Given the description of an element on the screen output the (x, y) to click on. 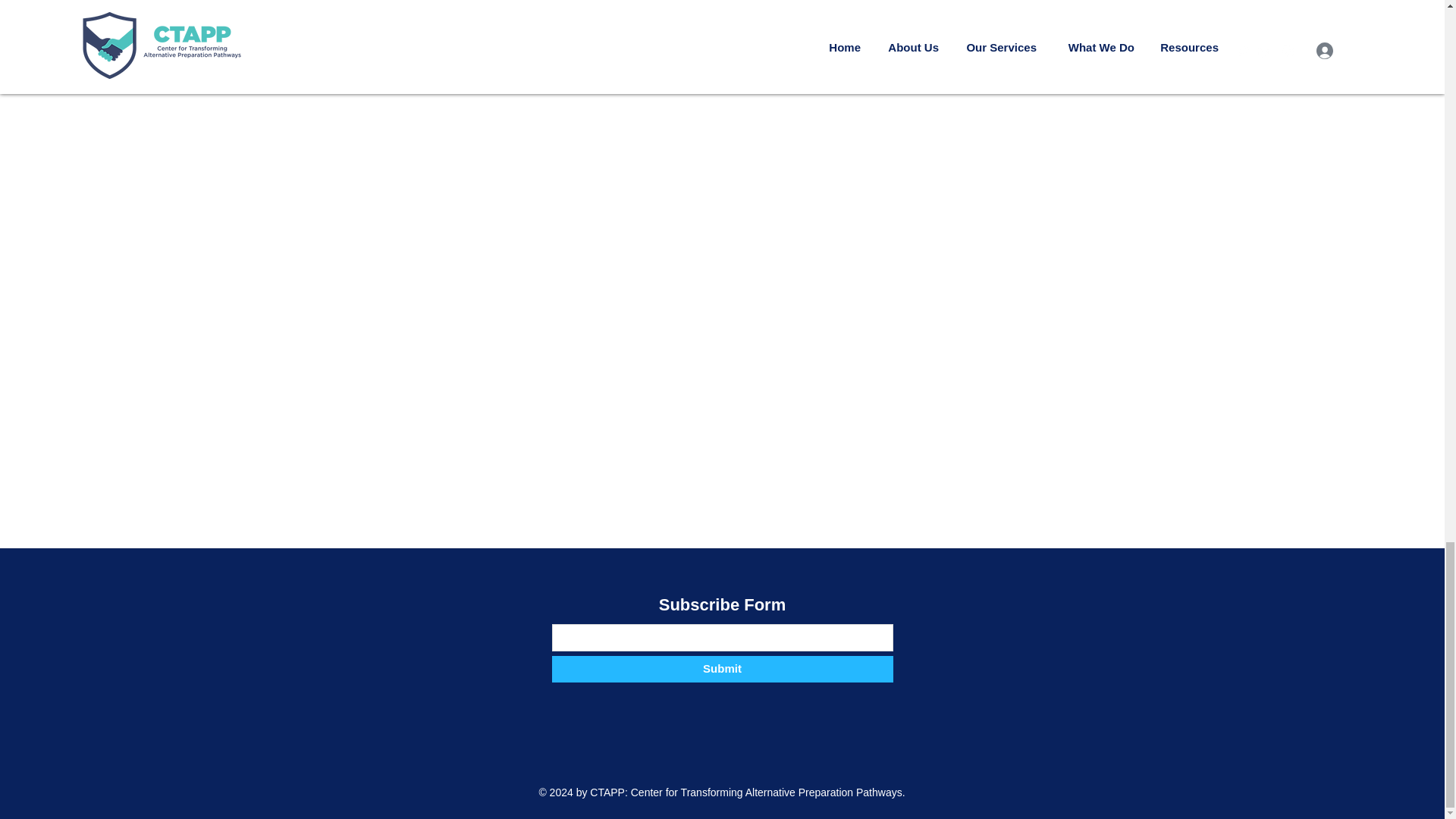
Submit (722, 669)
